Given the description of an element on the screen output the (x, y) to click on. 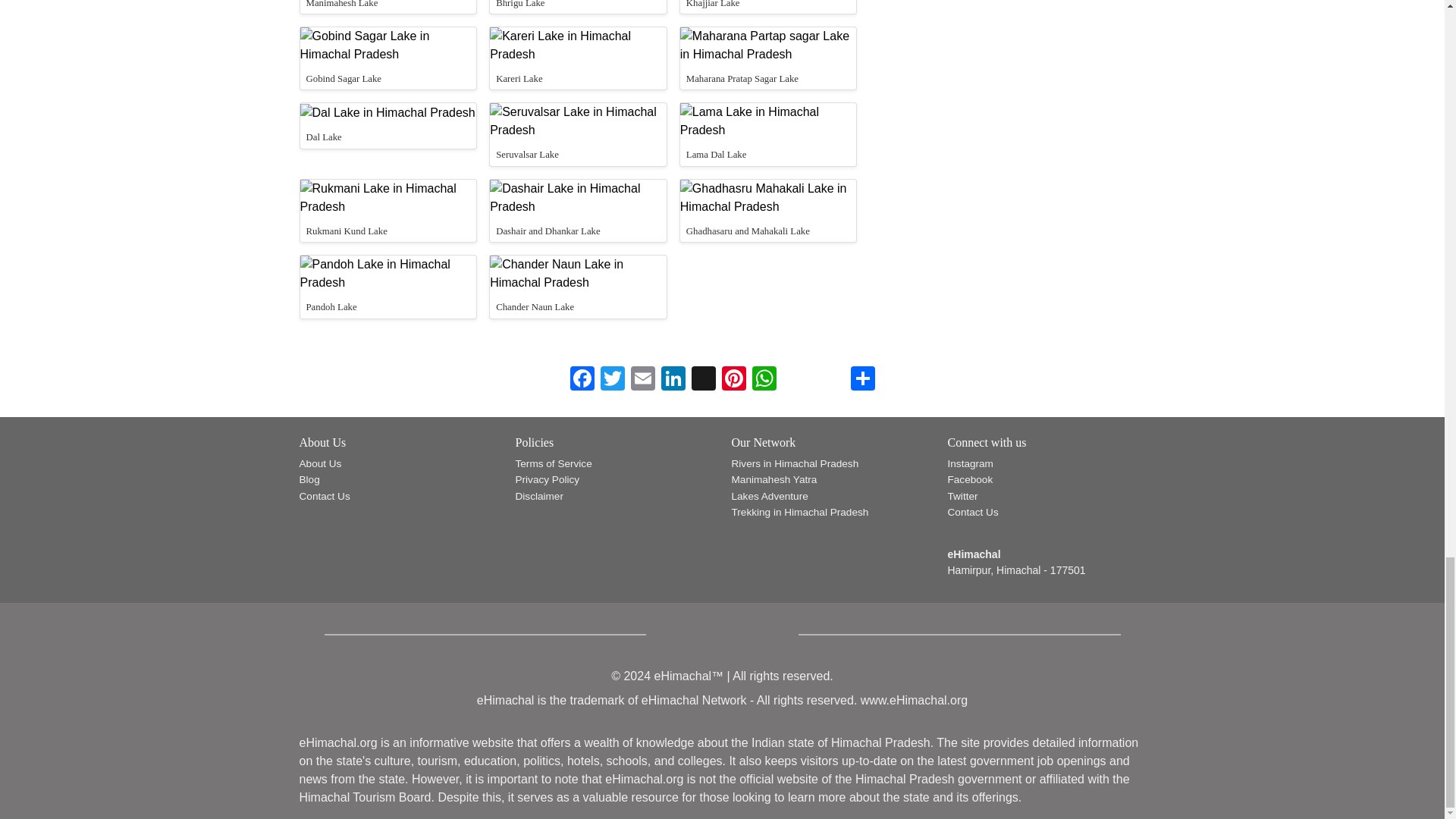
WhatsApp (763, 379)
LinkedIn (673, 379)
Pinterest (734, 379)
Email (642, 379)
Facebook (581, 379)
Snapchat (703, 379)
Twitter (611, 379)
